Given the description of an element on the screen output the (x, y) to click on. 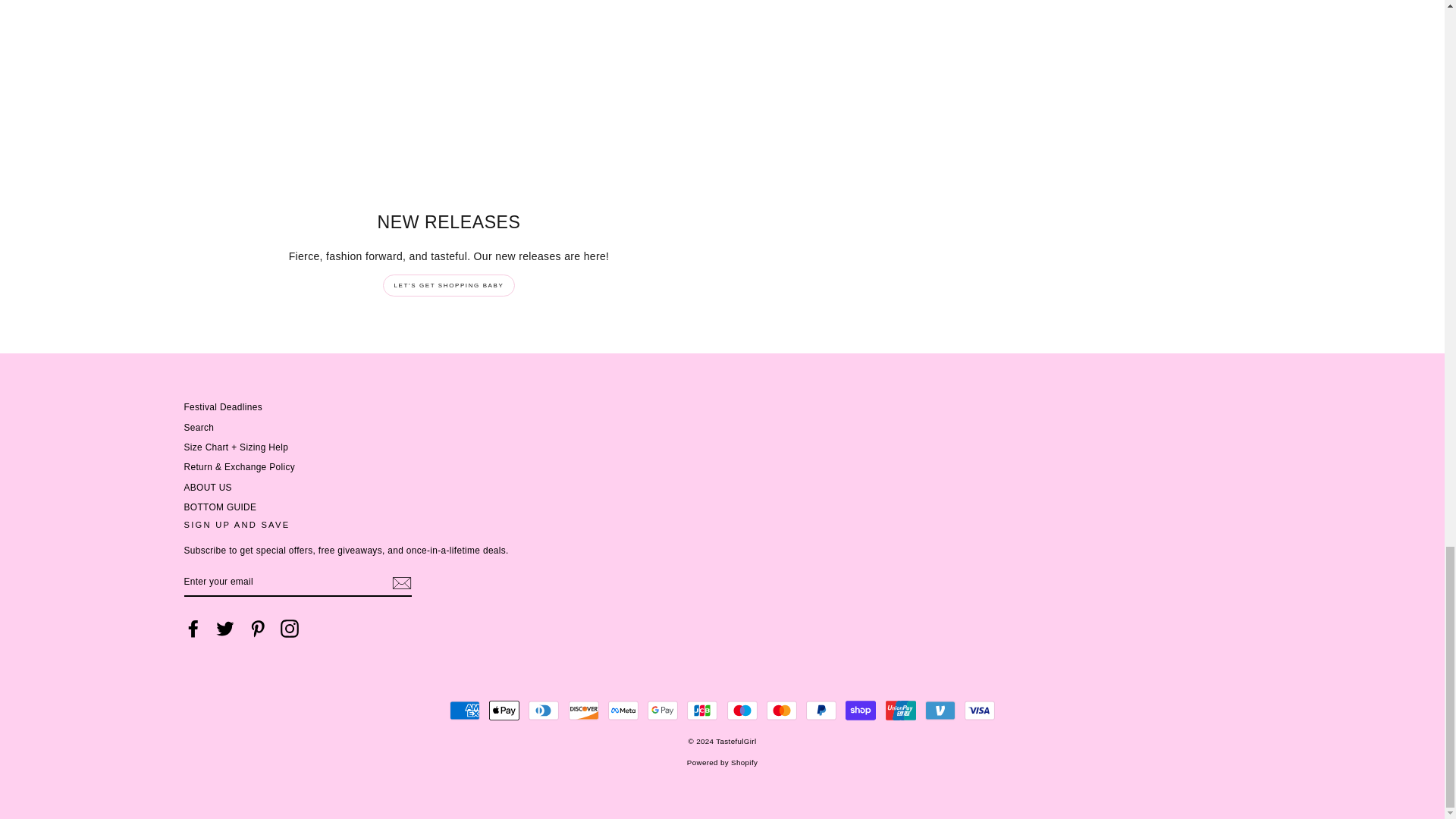
Discover (583, 710)
Apple Pay (504, 710)
Meta Pay (623, 710)
Google Pay (662, 710)
JCB (702, 710)
Diners Club (543, 710)
TastefulGirl on Pinterest (257, 628)
LET'S GET SHOPPING BABY (448, 285)
Maestro (741, 710)
TastefulGirl on Instagram (289, 628)
